Given the description of an element on the screen output the (x, y) to click on. 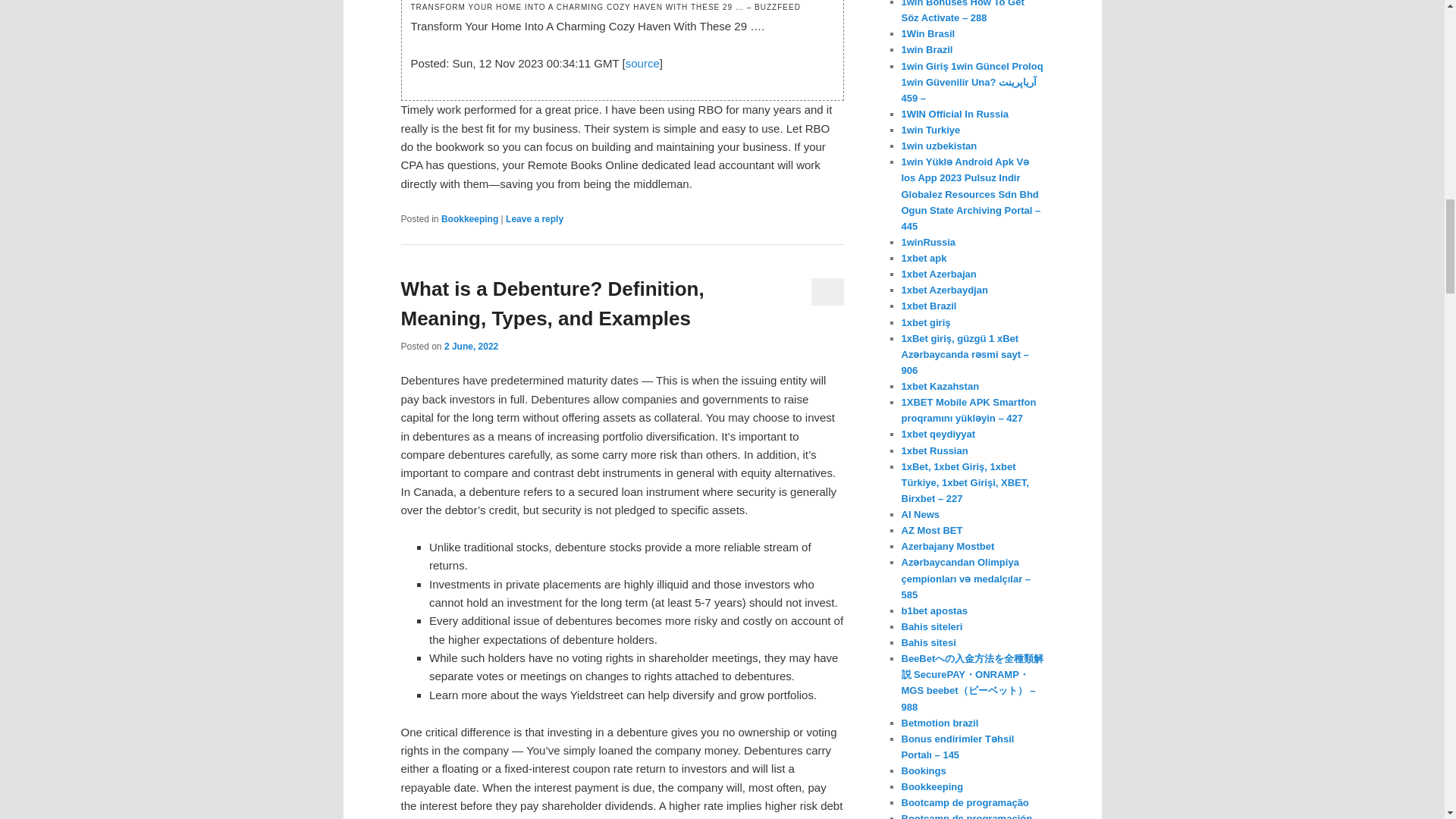
Leave a reply (534, 218)
1:18 pm (470, 346)
Bookkeeping (469, 218)
source (642, 62)
2 June, 2022 (470, 346)
View all posts in Bookkeeping (469, 218)
